Given the description of an element on the screen output the (x, y) to click on. 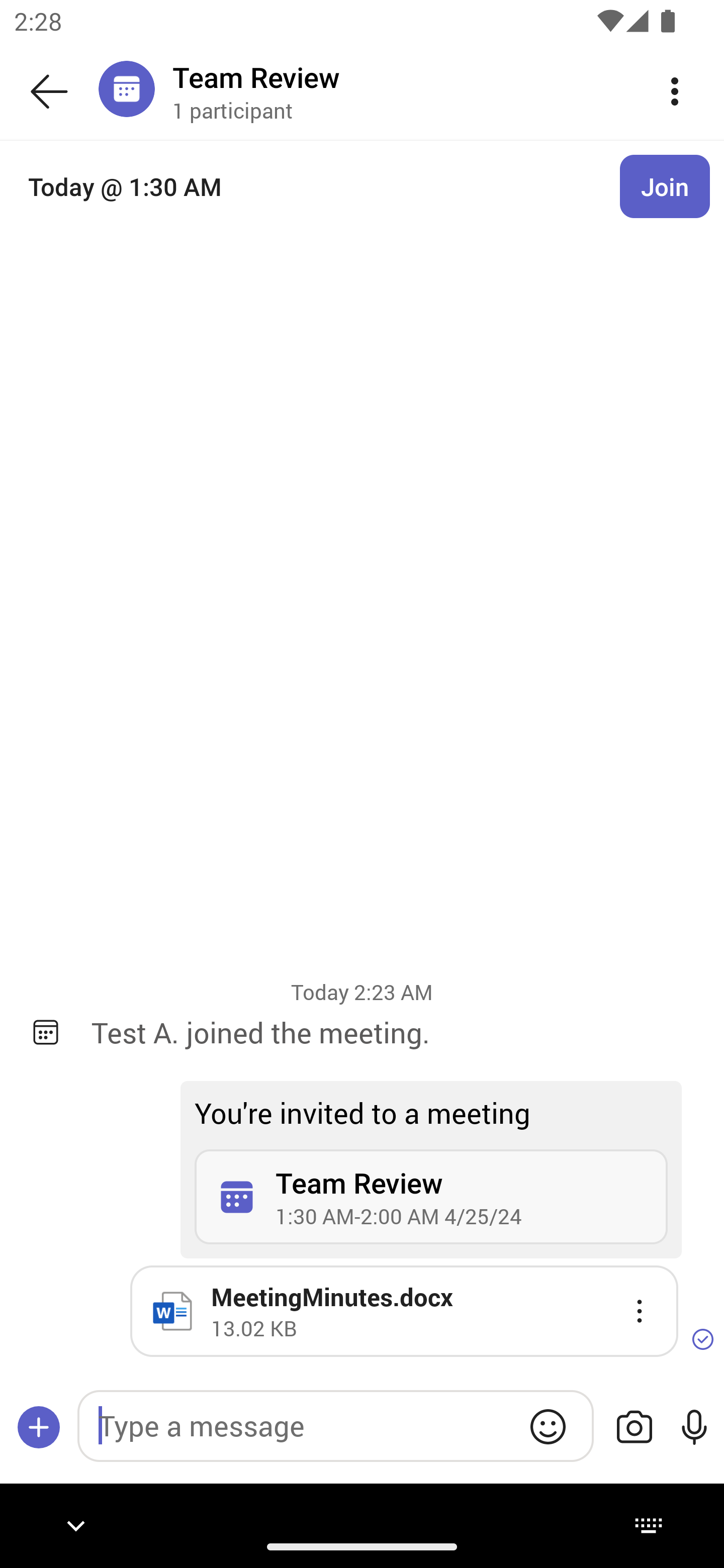
Back (49, 91)
More options (674, 90)
Team Review Team Review 1 participant (398, 90)
Join (664, 186)
Test A. joined the meeting. (393, 1032)
File options (639, 1310)
Compose options, expanded (38, 1427)
Button for loading camera action functionality (633, 1427)
Type a message (335, 1425)
GIFs and emojis picker (548, 1425)
